Given the description of an element on the screen output the (x, y) to click on. 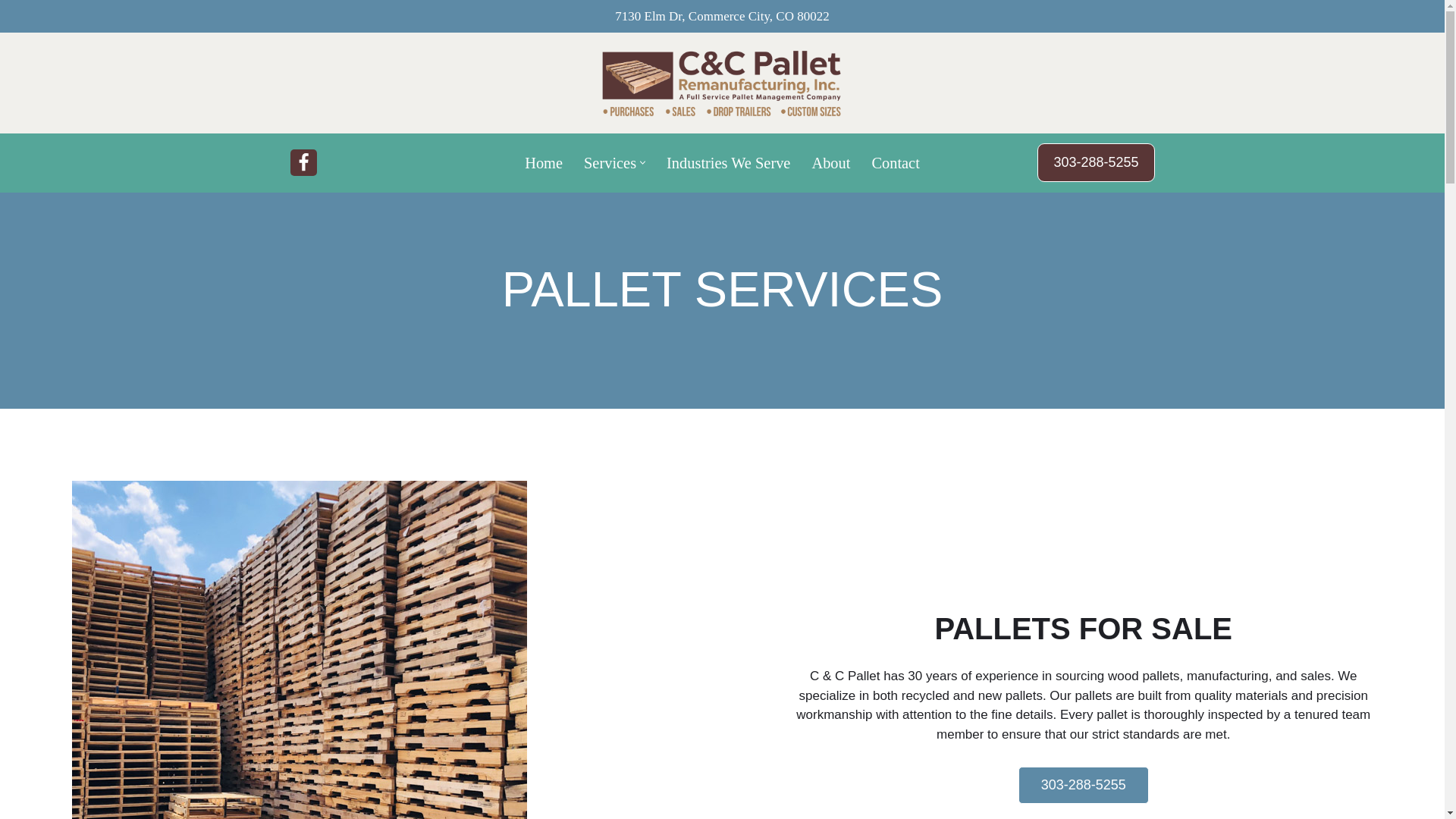
About (830, 162)
303-288-5255 (1082, 784)
303-288-5255 (1095, 162)
Services (609, 162)
7130 Elm Dr, Commerce City, CO 80022 (721, 16)
Home (543, 162)
Skip to content (11, 31)
Contact (894, 162)
Industries We Serve (728, 162)
Facebook (302, 162)
